Given the description of an element on the screen output the (x, y) to click on. 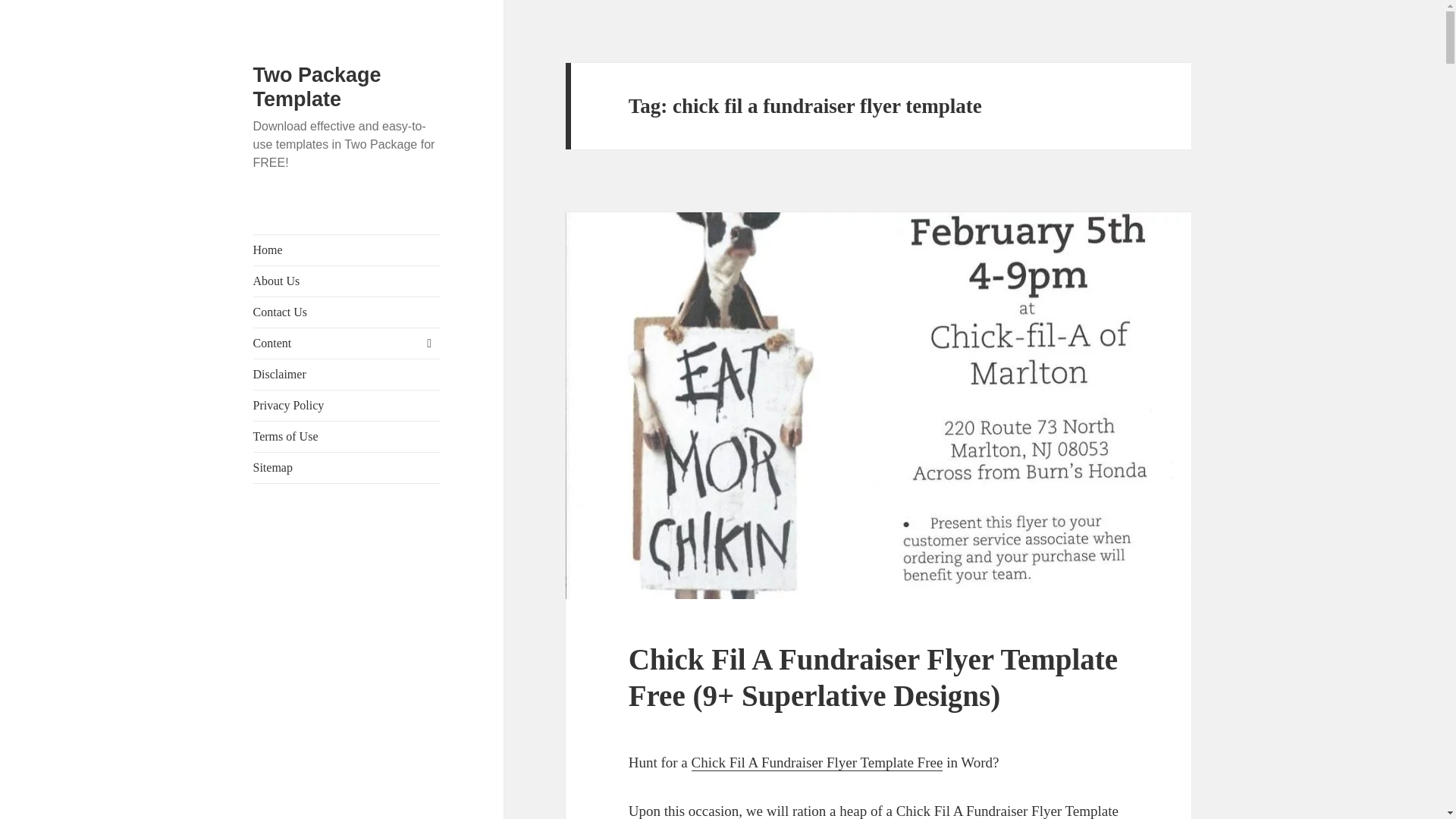
Two Package Template (317, 86)
About Us (347, 281)
Sitemap (347, 467)
Chick Fil A Fundraiser Flyer Template Free (817, 762)
Content (347, 343)
Home (347, 250)
Terms of Use (347, 436)
Disclaimer (347, 374)
Privacy Policy (347, 405)
expand child menu (428, 343)
Contact Us (347, 312)
